Given the description of an element on the screen output the (x, y) to click on. 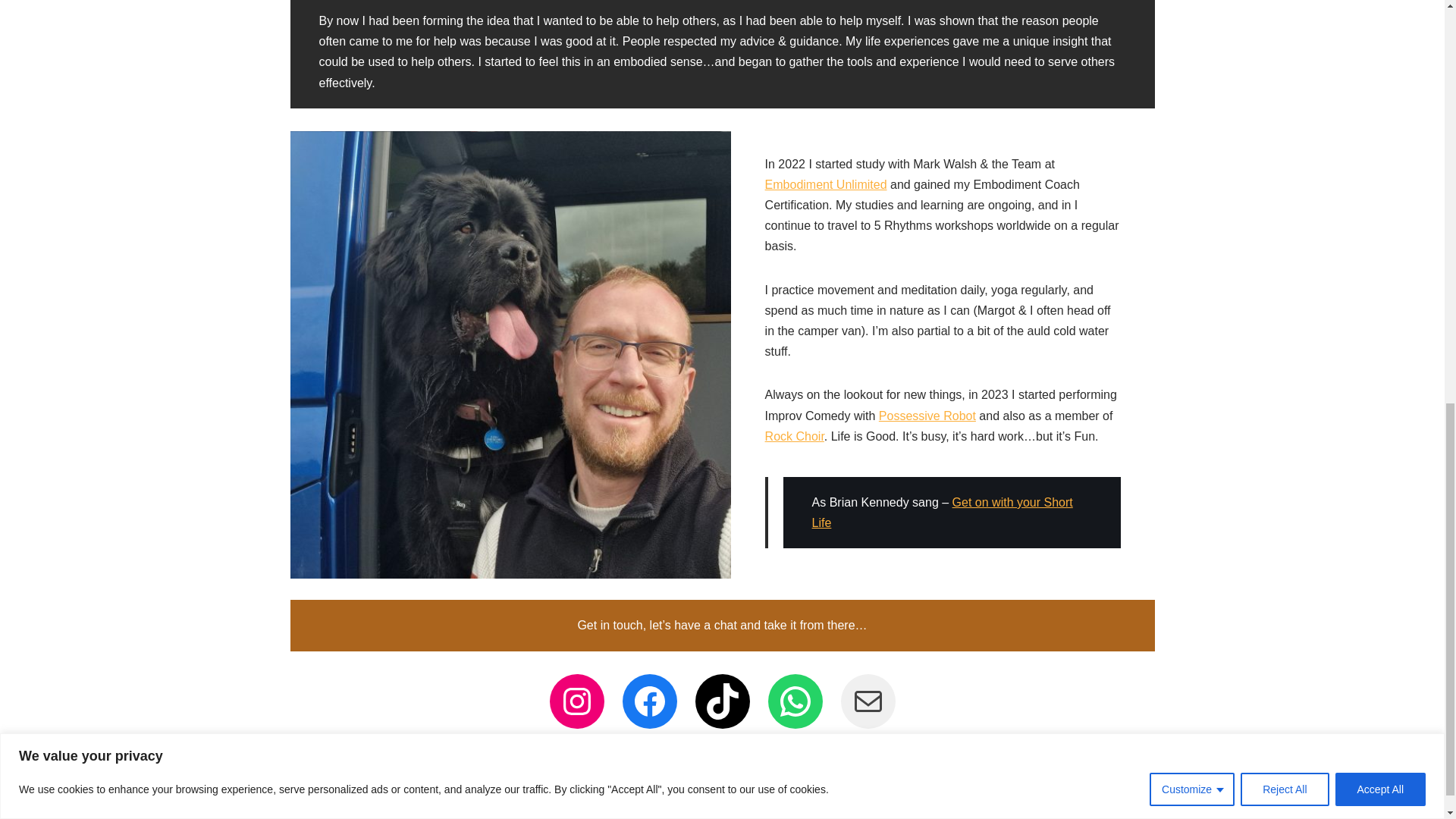
Rock Choir (794, 436)
Get on with your Short Life (942, 512)
Embodiment Unlimited (825, 184)
Embodiment Unlimited (825, 184)
Get on with your Short Life (942, 512)
Possessive Robot (927, 415)
Rock Choir (794, 436)
Possessive Robot (927, 415)
